Given the description of an element on the screen output the (x, y) to click on. 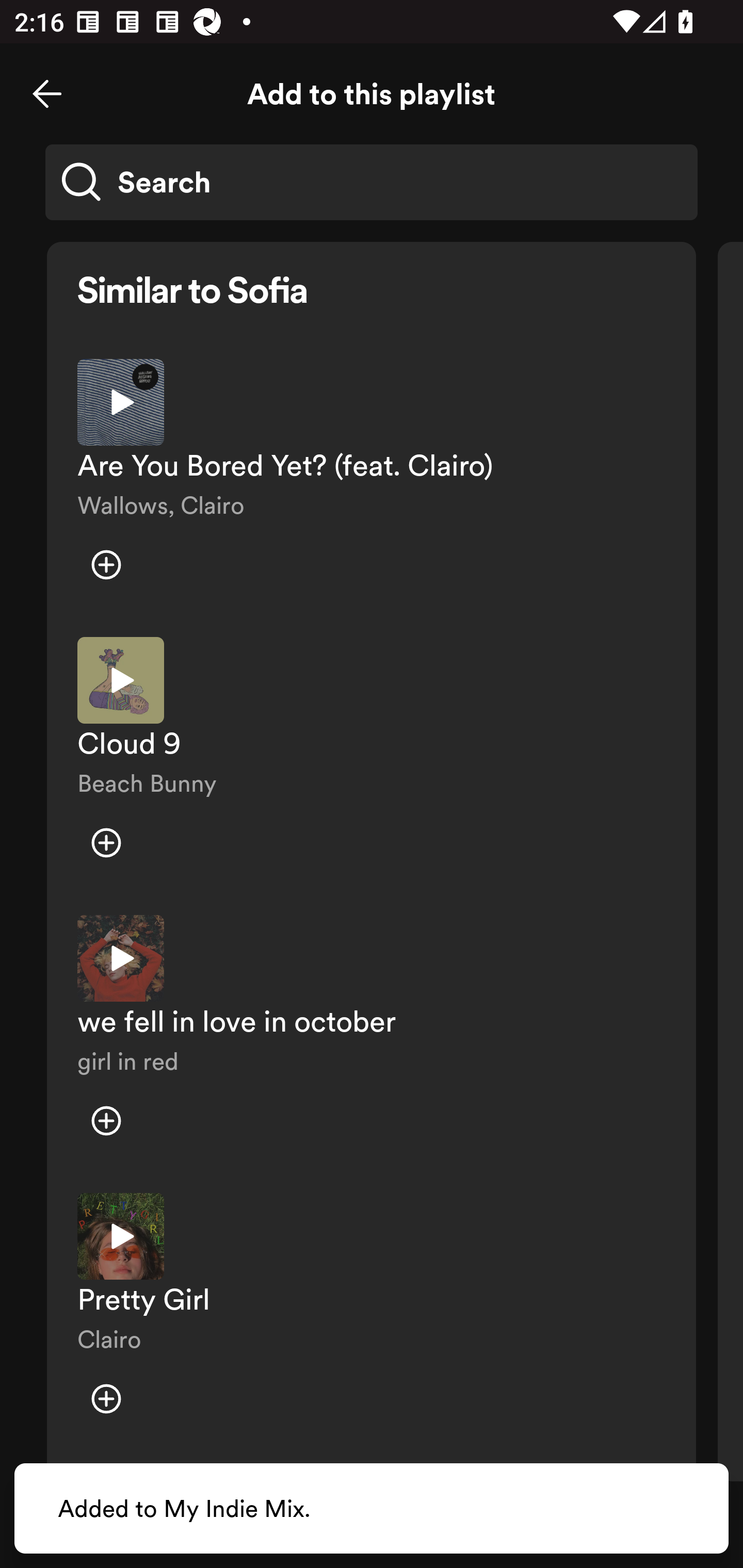
Close (46, 93)
Search (371, 181)
Play preview (120, 402)
Add item (106, 565)
Play preview Cloud 9 Beach Bunny Add item (371, 761)
Play preview (120, 680)
Add item (106, 842)
Play preview (120, 958)
Add item (106, 1120)
Play preview Pretty Girl Clairo Add item (371, 1317)
Play preview (120, 1236)
Add item (106, 1398)
